Given the description of an element on the screen output the (x, y) to click on. 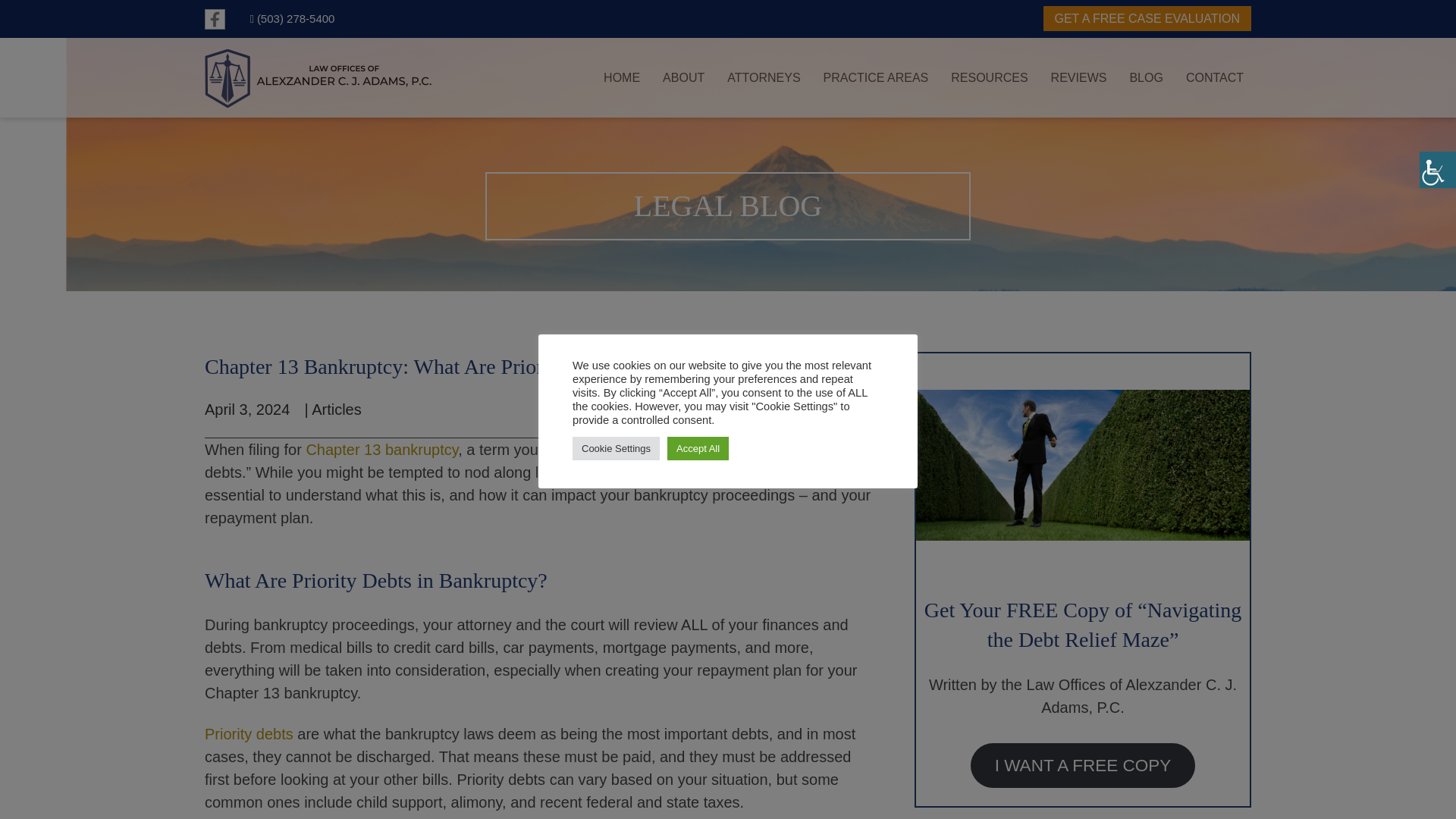
HOME (617, 76)
PRACTICE AREAS (872, 76)
REVIEWS (1075, 76)
Facebook (215, 19)
RESOURCES (985, 76)
Chapter 13 bankruptcy (381, 449)
CONTACT (1210, 76)
ATTORNEYS (759, 76)
GET A FREE CASE EVALUATION (1147, 18)
BLOG (1141, 76)
ABOUT (679, 76)
